Given the description of an element on the screen output the (x, y) to click on. 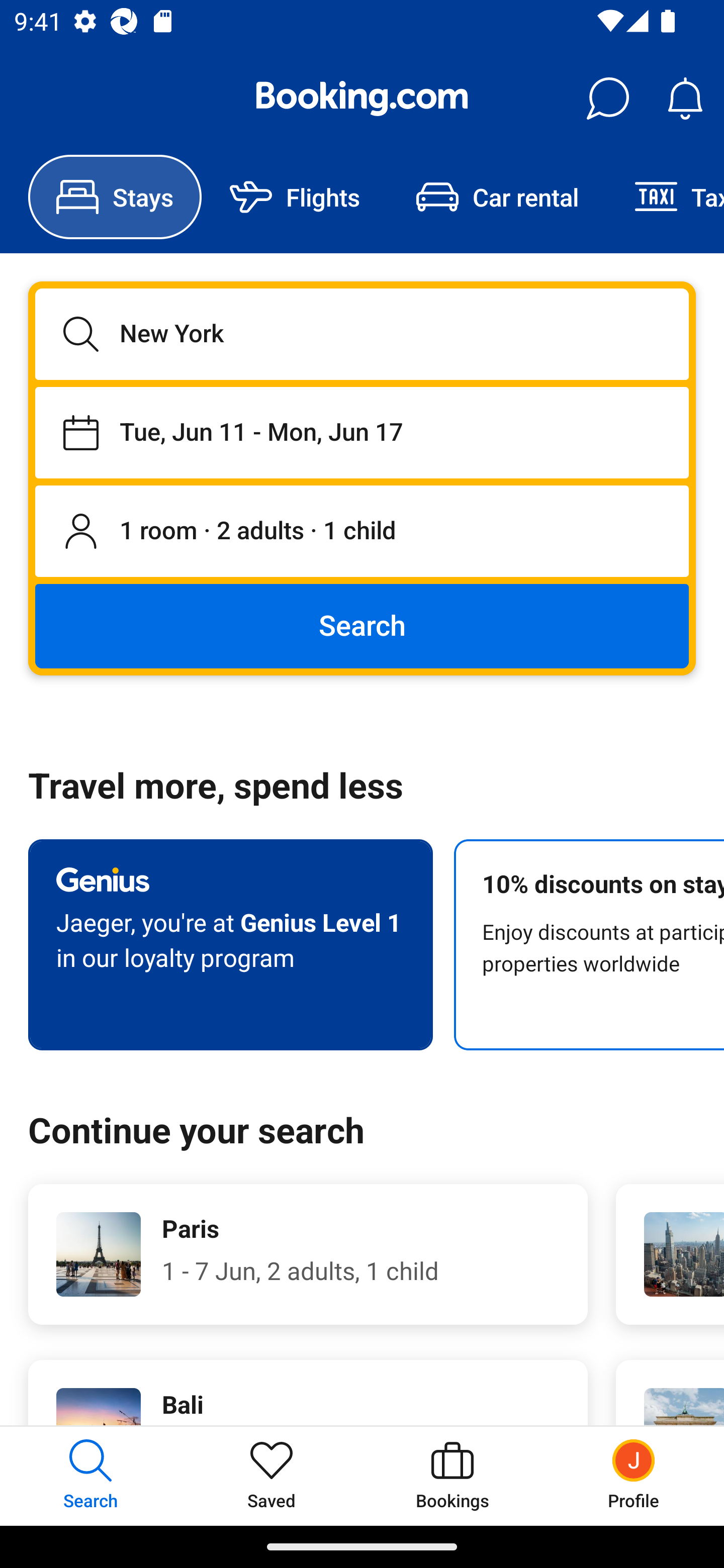
Messages (607, 98)
Notifications (685, 98)
Stays (114, 197)
Flights (294, 197)
Car rental (497, 197)
Taxi (665, 197)
New York (361, 333)
Staying from Tue, Jun 11 until Mon, Jun 17 (361, 432)
1 room, 2 adults, 1 child (361, 531)
Search (361, 625)
Paris 1 - 7 Jun, 2 adults, 1 child (307, 1253)
Saved (271, 1475)
Bookings (452, 1475)
Profile (633, 1475)
